Given the description of an element on the screen output the (x, y) to click on. 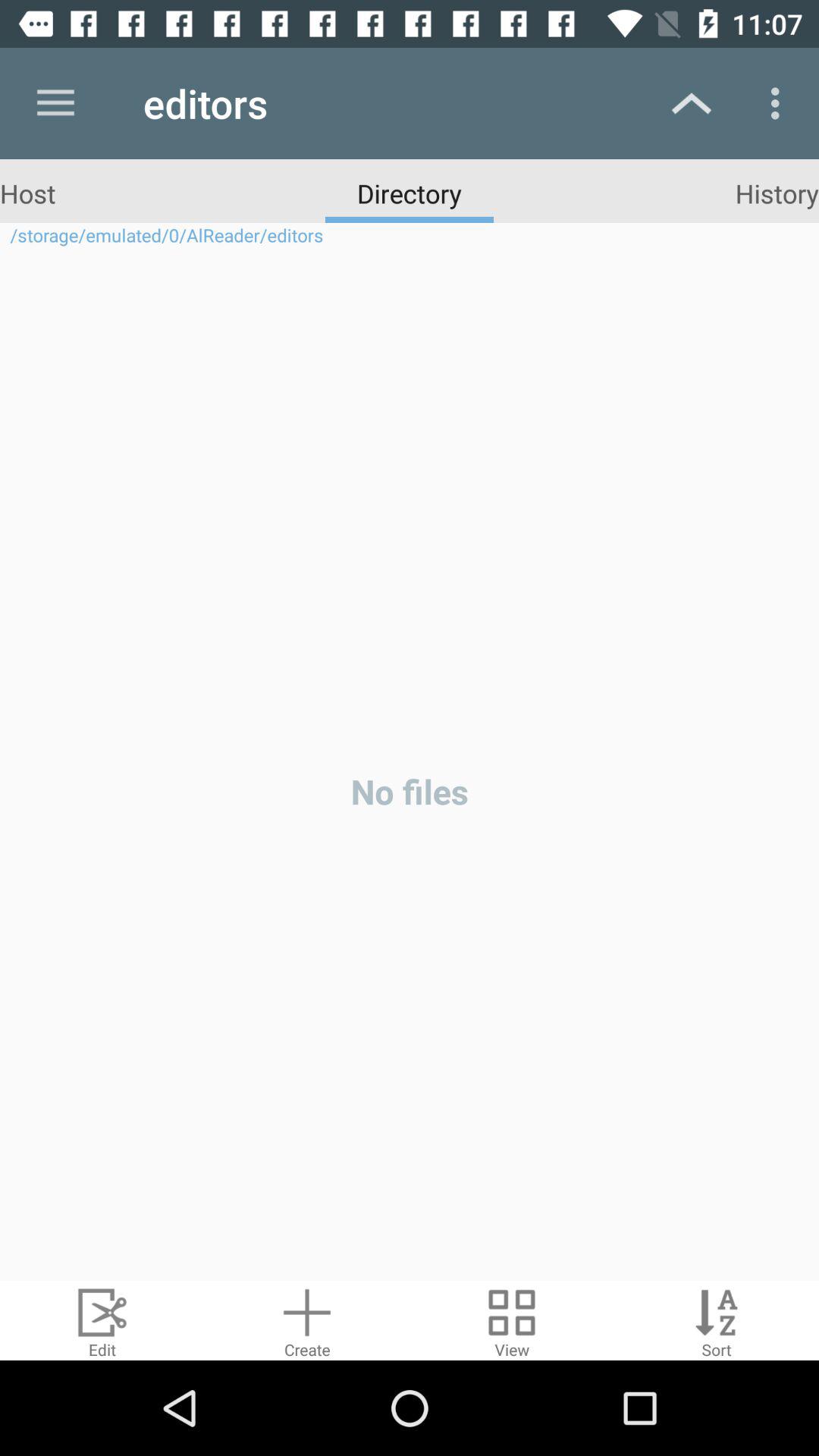
launch app to the right of directory (777, 193)
